Given the description of an element on the screen output the (x, y) to click on. 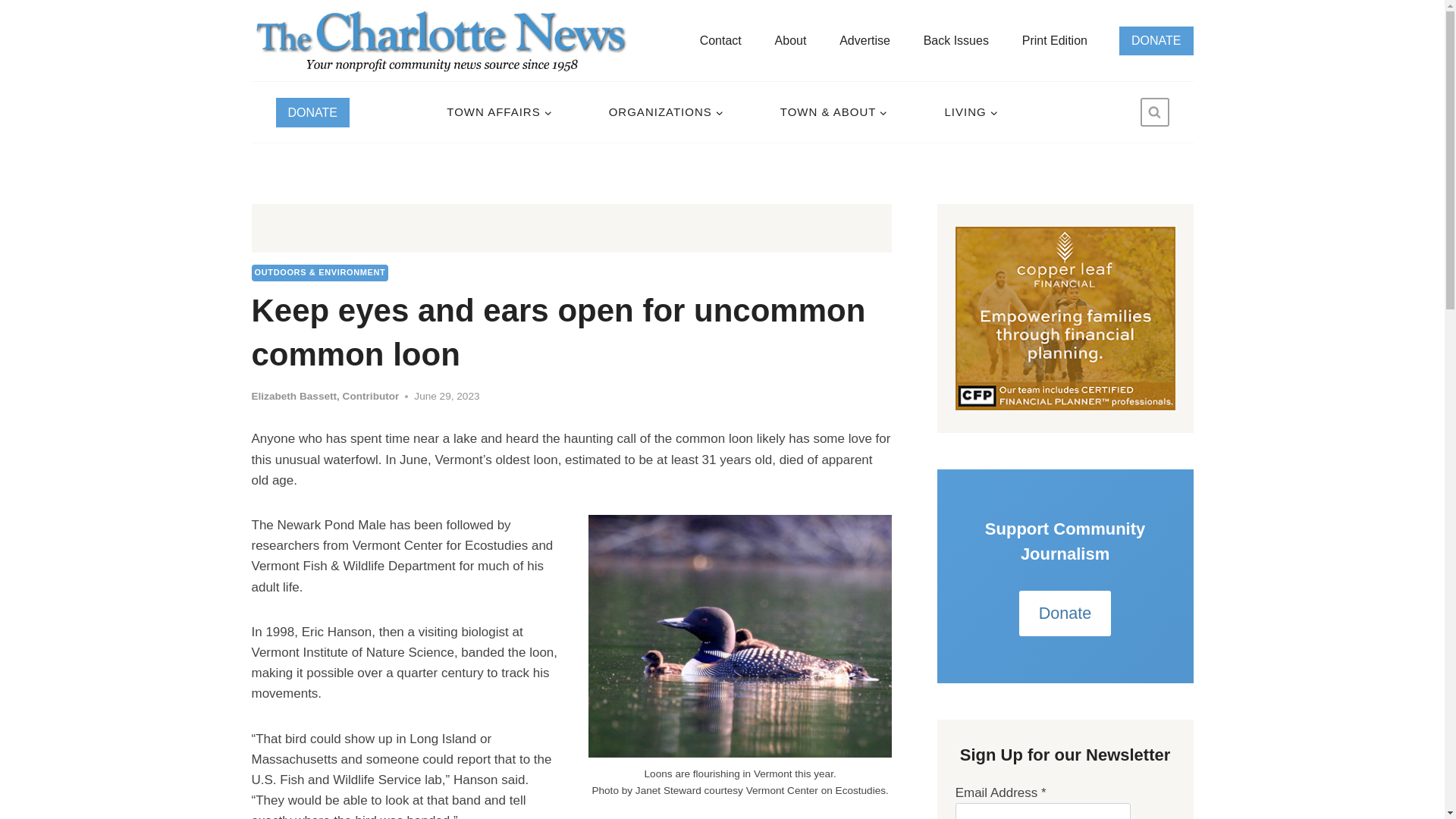
About (790, 40)
Advertise (864, 40)
DONATE (1155, 39)
Back Issues (955, 40)
DONATE (312, 111)
LIVING (970, 112)
TOWN AFFAIRS (499, 112)
Print Edition (1054, 40)
ORGANIZATIONS (665, 112)
Contact (720, 40)
